Given the description of an element on the screen output the (x, y) to click on. 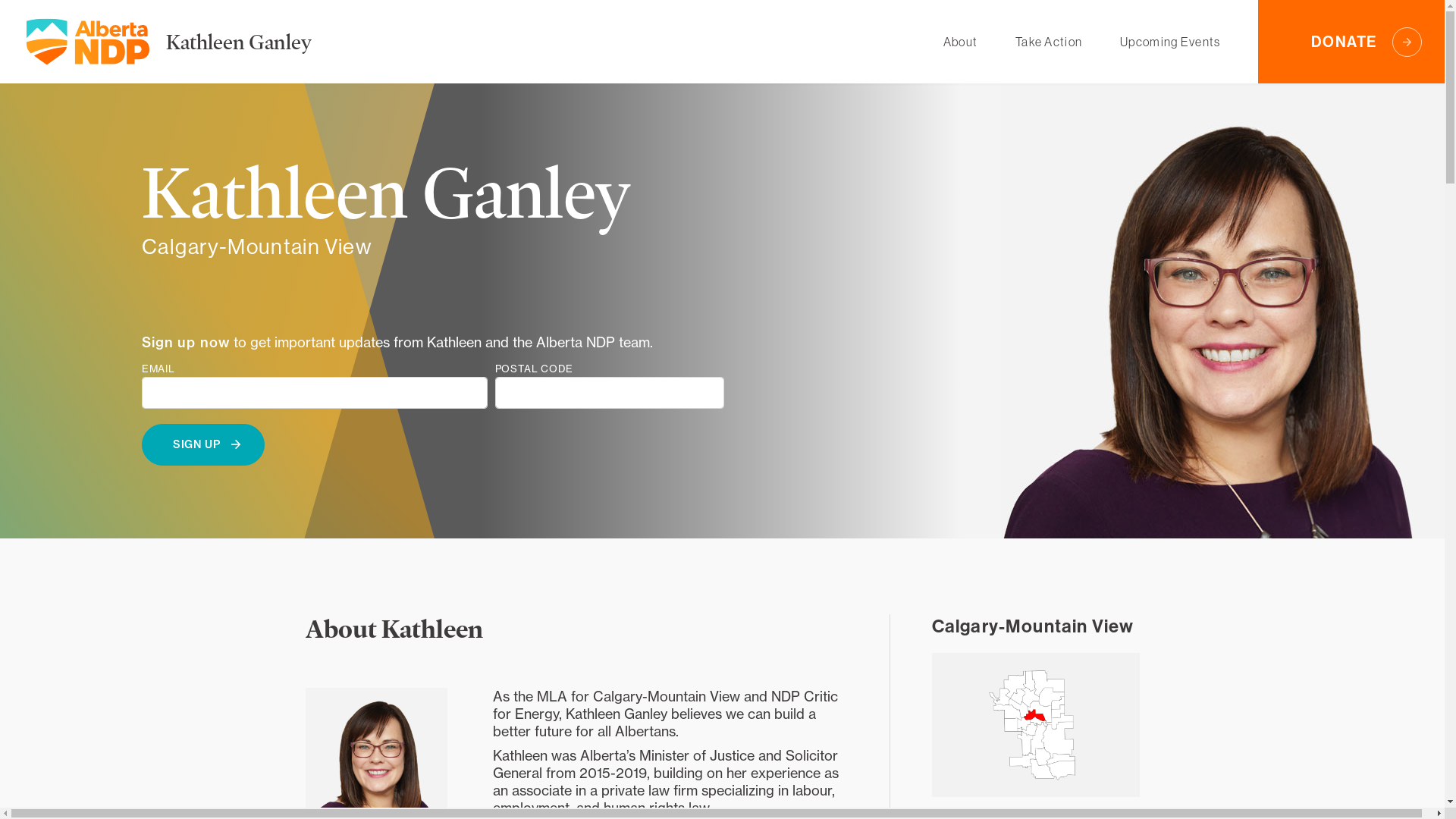
Upcoming Events Element type: text (1170, 41)
DONATE Element type: text (1351, 41)
SIGN UP Element type: text (202, 444)
Take Action Element type: text (1048, 41)
Kathleen Ganley Element type: text (238, 41)
About Element type: text (960, 41)
